Given the description of an element on the screen output the (x, y) to click on. 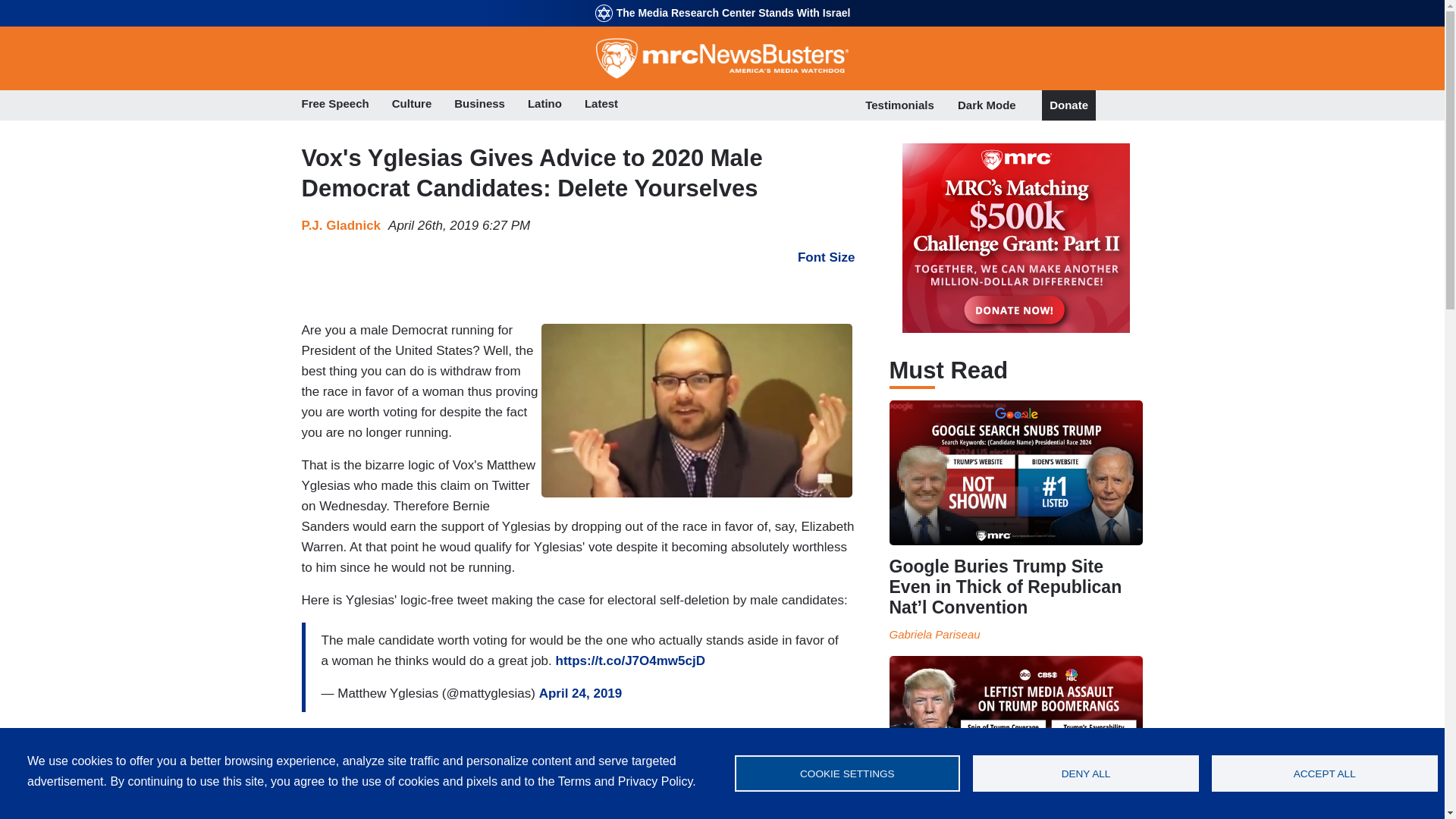
Latest (601, 105)
Testimonials (899, 104)
Culture (411, 105)
Latino (544, 105)
DENY ALL (1085, 773)
Skip to main content (721, 1)
ACCEPT ALL (1324, 773)
COOKIE SETTINGS (846, 773)
Free Speech (335, 105)
Dark Mode (987, 104)
Business (479, 105)
